Given the description of an element on the screen output the (x, y) to click on. 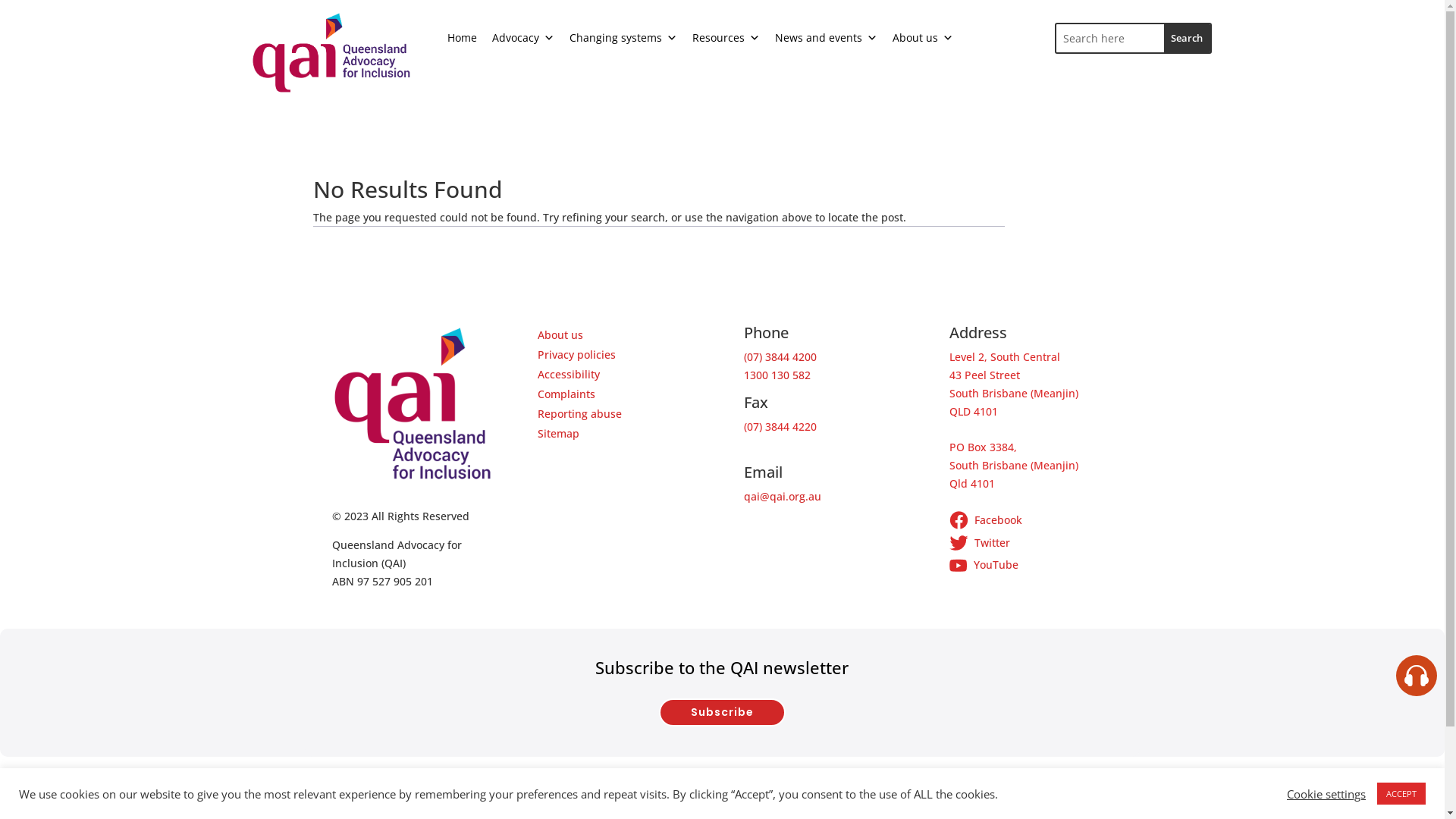
Privacy policies Element type: text (576, 354)
Reporting abuse Element type: text (579, 413)
Subscribe Element type: text (721, 711)
Home Element type: text (461, 37)
Facebook Element type: text (1030, 522)
qai@qai.org.au Element type: text (782, 496)
Resources Element type: text (725, 37)
News and events Element type: text (825, 37)
ACCEPT Element type: text (1401, 793)
(07) 3844 4200 Element type: text (779, 356)
Sitemap Element type: text (558, 433)
Cookie settings Element type: text (1325, 793)
About us Element type: text (560, 334)
Advocacy Element type: text (522, 37)
About us Element type: text (922, 37)
YouTube Element type: text (1030, 564)
Changing systems Element type: text (622, 37)
1300 130 582 Element type: text (776, 374)
Listen with the ReachDeck Toolbar Element type: hover (1416, 675)
Twitter Element type: text (1030, 544)
Accessibility Element type: text (568, 374)
Search Element type: text (1187, 38)
Complaints Element type: text (566, 393)
